Given the description of an element on the screen output the (x, y) to click on. 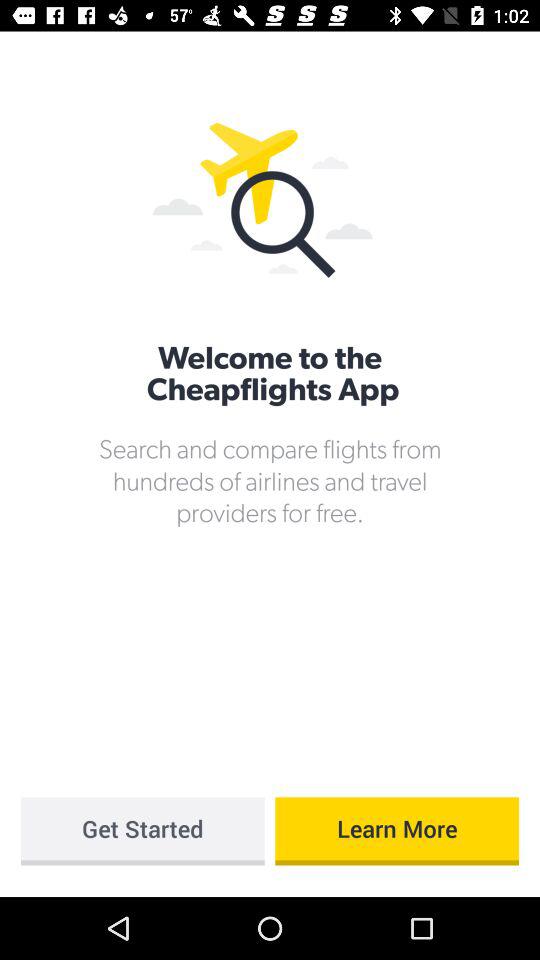
flip until get started item (142, 831)
